Given the description of an element on the screen output the (x, y) to click on. 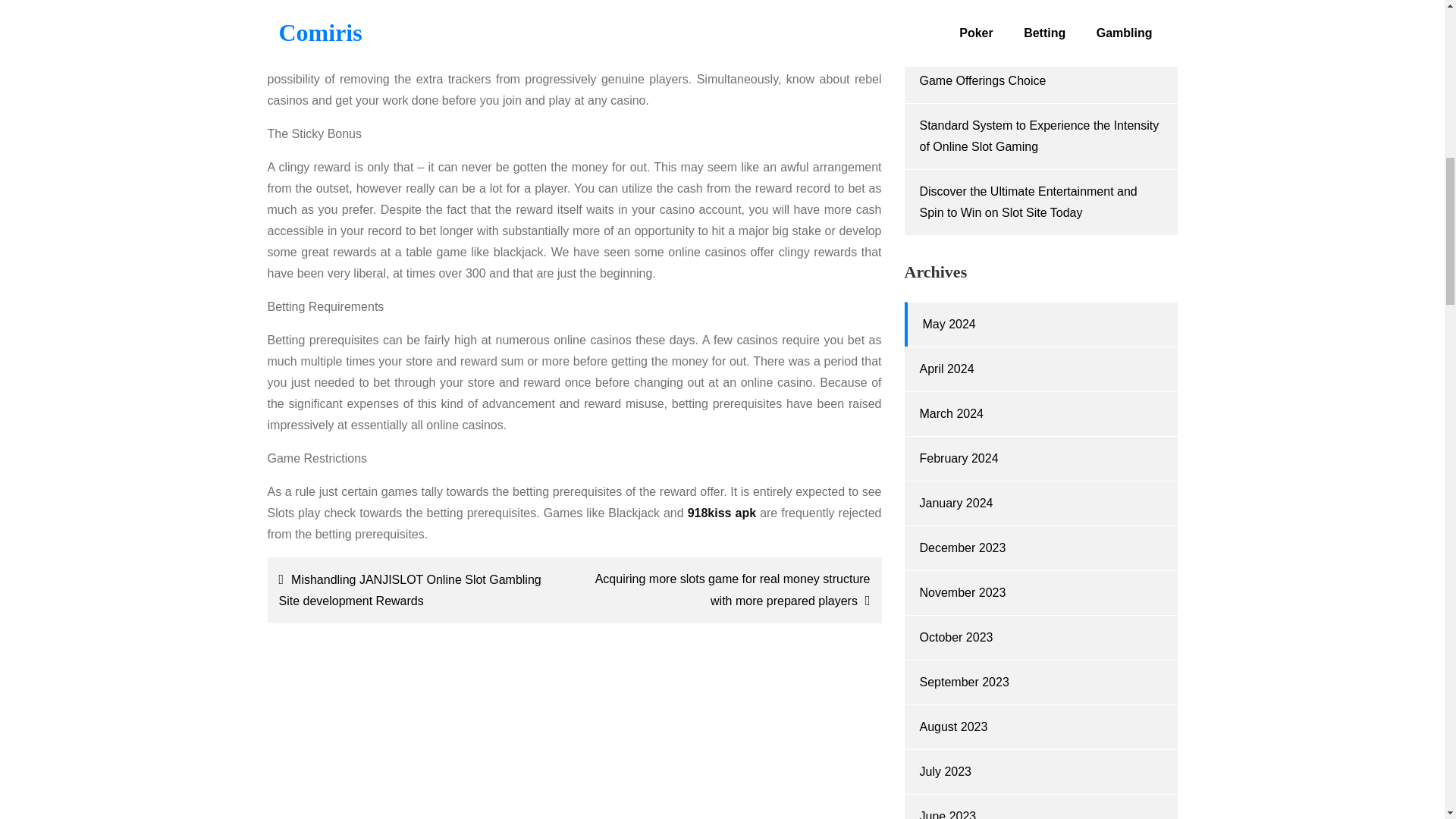
July 2023 (944, 771)
October 2023 (955, 636)
March 2024 (951, 413)
918kiss apk (721, 512)
December 2023 (962, 547)
May 2024 (948, 323)
September 2023 (963, 681)
February 2024 (957, 458)
January 2024 (955, 502)
August 2023 (952, 726)
June 2023 (946, 814)
